Given the description of an element on the screen output the (x, y) to click on. 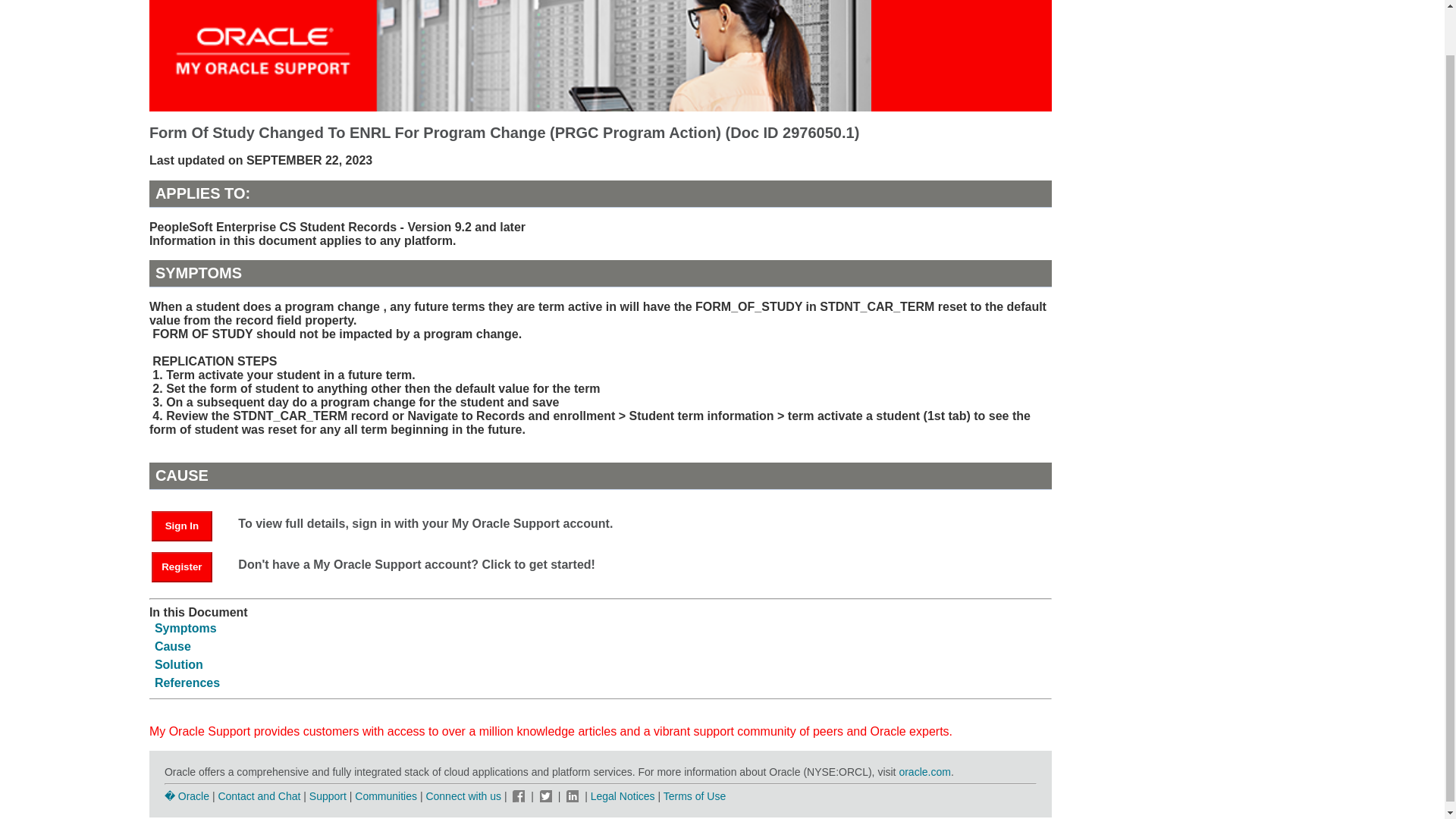
Sign In (181, 526)
Terms of Use (694, 796)
Contact and Chat (257, 796)
oracle.com (924, 771)
Solution (178, 664)
Communities (385, 796)
Symptoms (185, 627)
Register (189, 565)
oracle.com (924, 771)
Register (181, 567)
References (186, 682)
Sign In (189, 524)
Support (327, 796)
Legal Notices (623, 796)
Connect with us (464, 796)
